Given the description of an element on the screen output the (x, y) to click on. 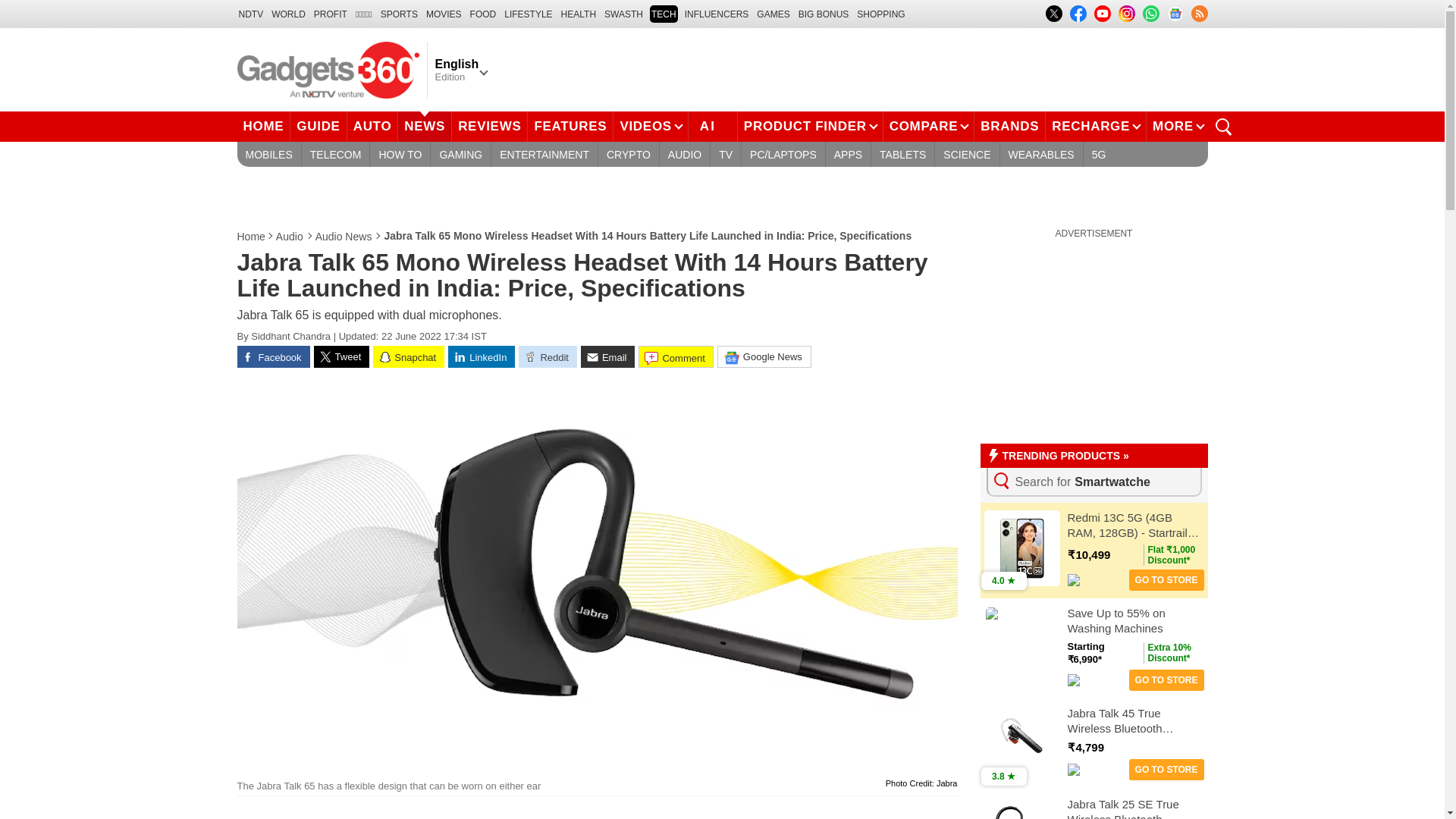
HEALTH (577, 13)
MOVIES (444, 13)
REVIEWS (489, 126)
Gadgets 360 (327, 68)
NDTV (249, 13)
Influencers (716, 13)
NDTV (249, 13)
PROFIT (331, 13)
Sports (398, 13)
TECH (663, 13)
